Given the description of an element on the screen output the (x, y) to click on. 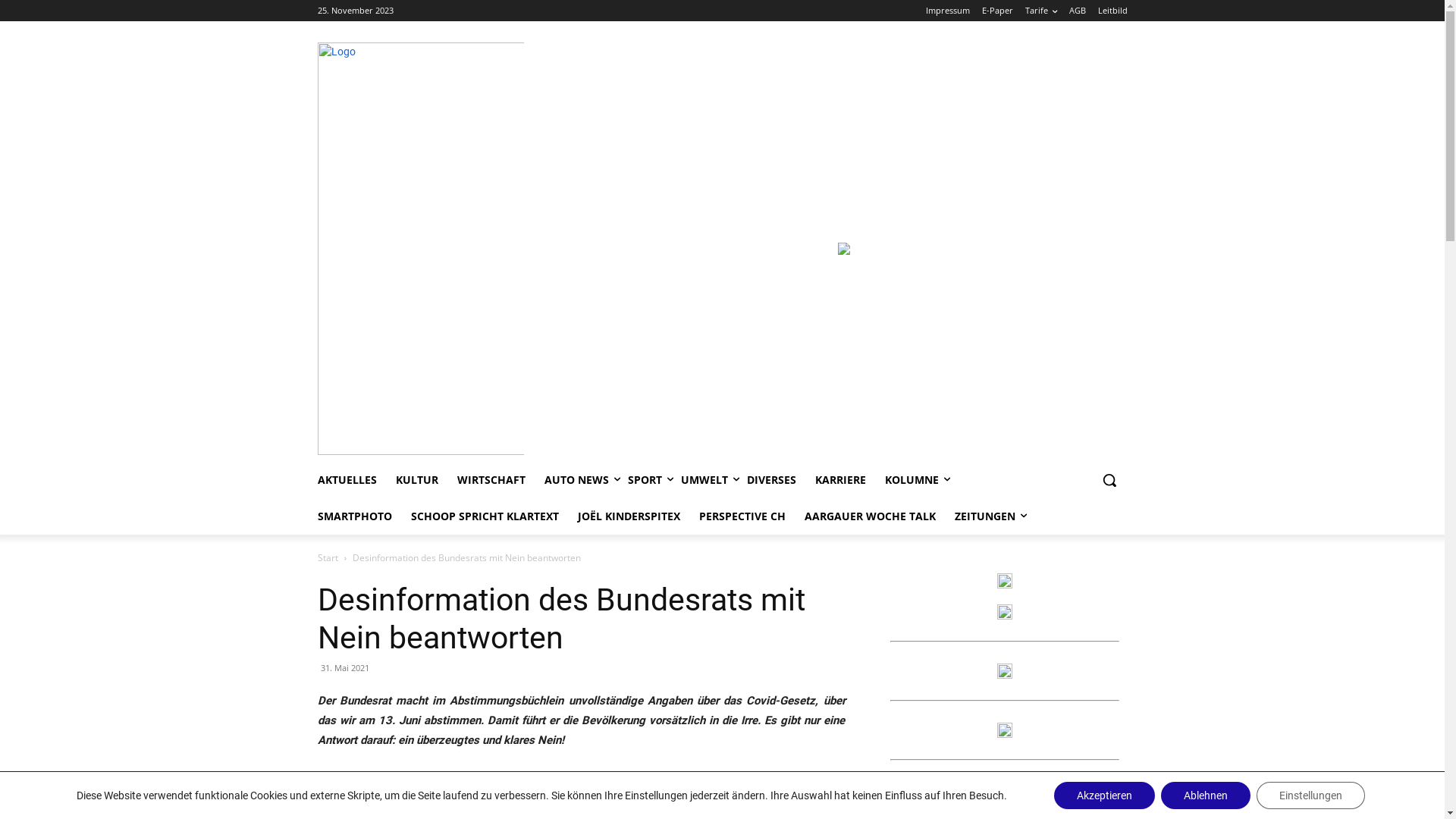
KOLUMNE Element type: text (911, 479)
PERSPECTIVE CH Element type: text (742, 516)
E-Paper Element type: text (996, 10)
Impressum Element type: text (947, 10)
AUTO NEWS Element type: text (576, 479)
Leitbild Element type: text (1112, 10)
Ablehnen Element type: text (1205, 795)
Arrigato GmbH Element type: hover (1003, 789)
AGB Element type: text (1077, 10)
WIRTSCHAFT Element type: text (490, 479)
UMWELT Element type: text (704, 479)
Grosse Perlenausstellung Element type: hover (843, 248)
KULTUR Element type: text (416, 479)
ZEITUNGEN Element type: text (983, 516)
SPORT Element type: text (644, 479)
AKTUELLES Element type: text (346, 479)
AARGAUER WOCHE TALK Element type: text (869, 516)
Tarife Element type: text (1041, 10)
Einstellungen Element type: text (1310, 795)
smartphoto Element type: hover (1003, 729)
Lernwerkstatt Element type: hover (1003, 670)
SCHOOP SPRICHT KLARTEXT Element type: text (484, 516)
Start Element type: text (326, 557)
DIVERSES Element type: text (770, 479)
KARRIERE Element type: text (839, 479)
Akzeptieren Element type: text (1104, 795)
SMARTPHOTO Element type: text (353, 516)
PERSPECTIVE CH Element type: hover (1003, 611)
